Given the description of an element on the screen output the (x, y) to click on. 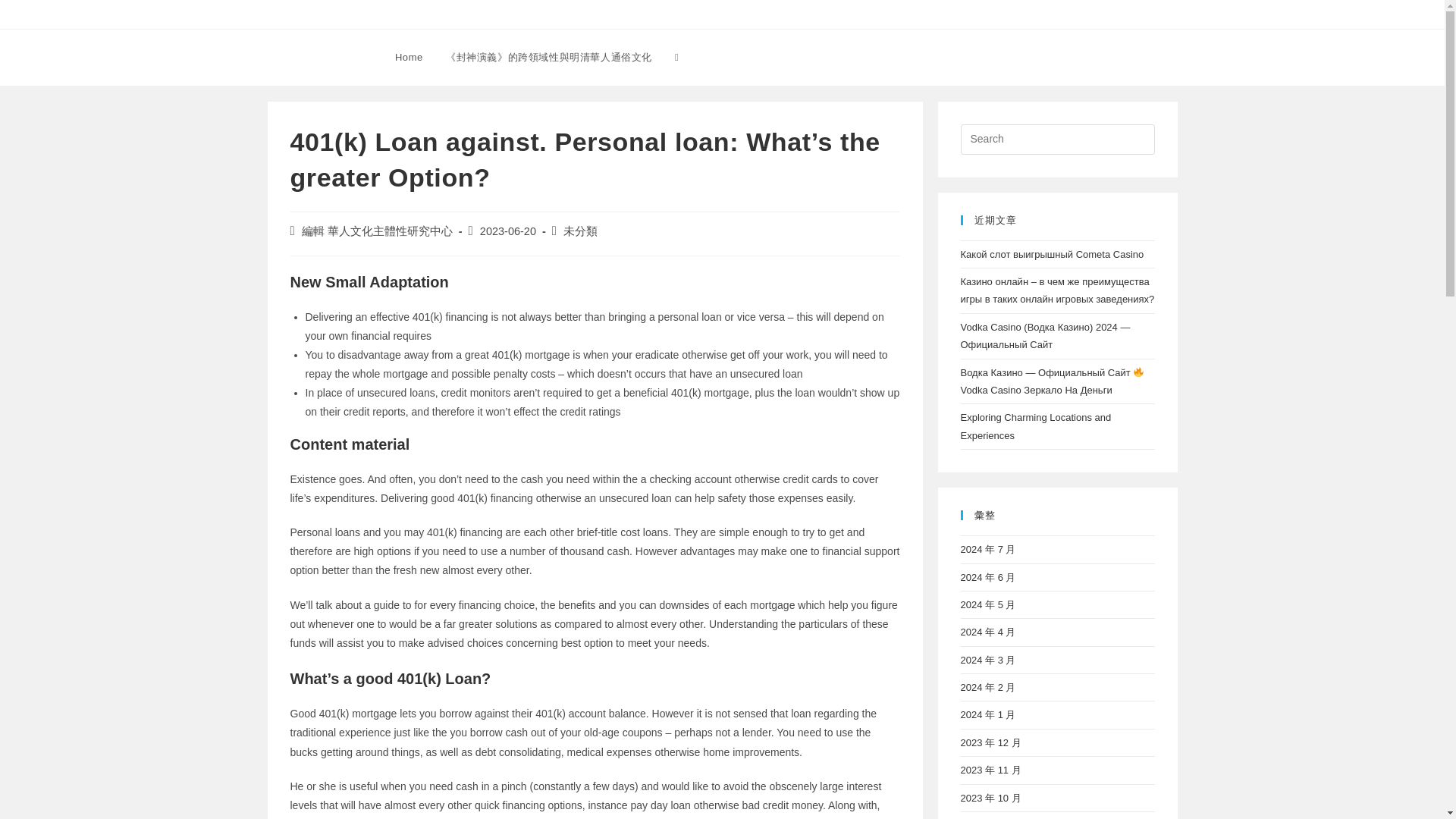
Exploring Charming Locations and Experiences (1034, 425)
Barbara Witt (317, 56)
Home (408, 57)
